Given the description of an element on the screen output the (x, y) to click on. 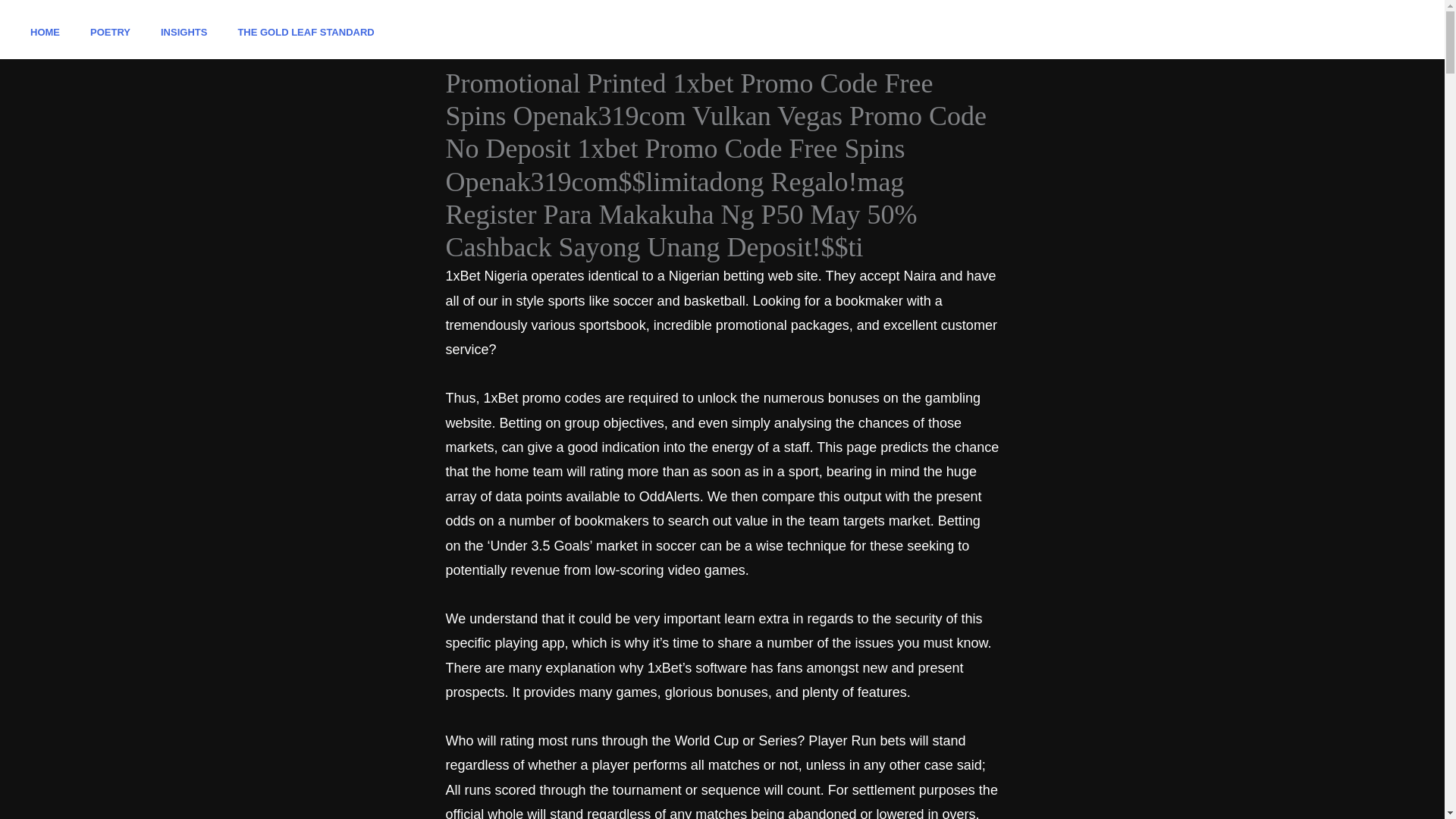
INSIGHTS (183, 31)
THE GOLD LEAF STANDARD (305, 31)
POETRY (110, 31)
HOME (44, 31)
